Given the description of an element on the screen output the (x, y) to click on. 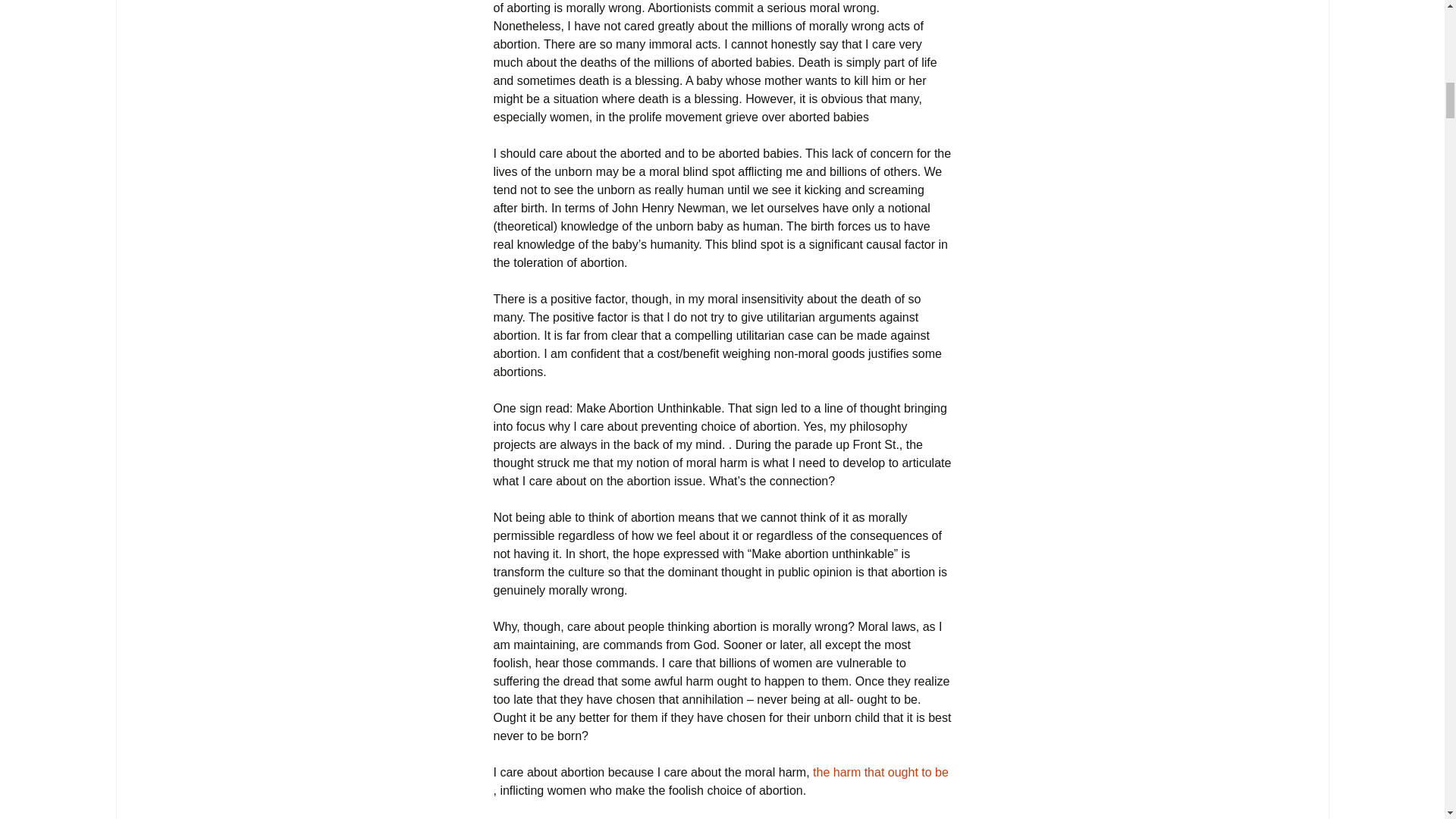
the harm that ought to be (880, 771)
